Given the description of an element on the screen output the (x, y) to click on. 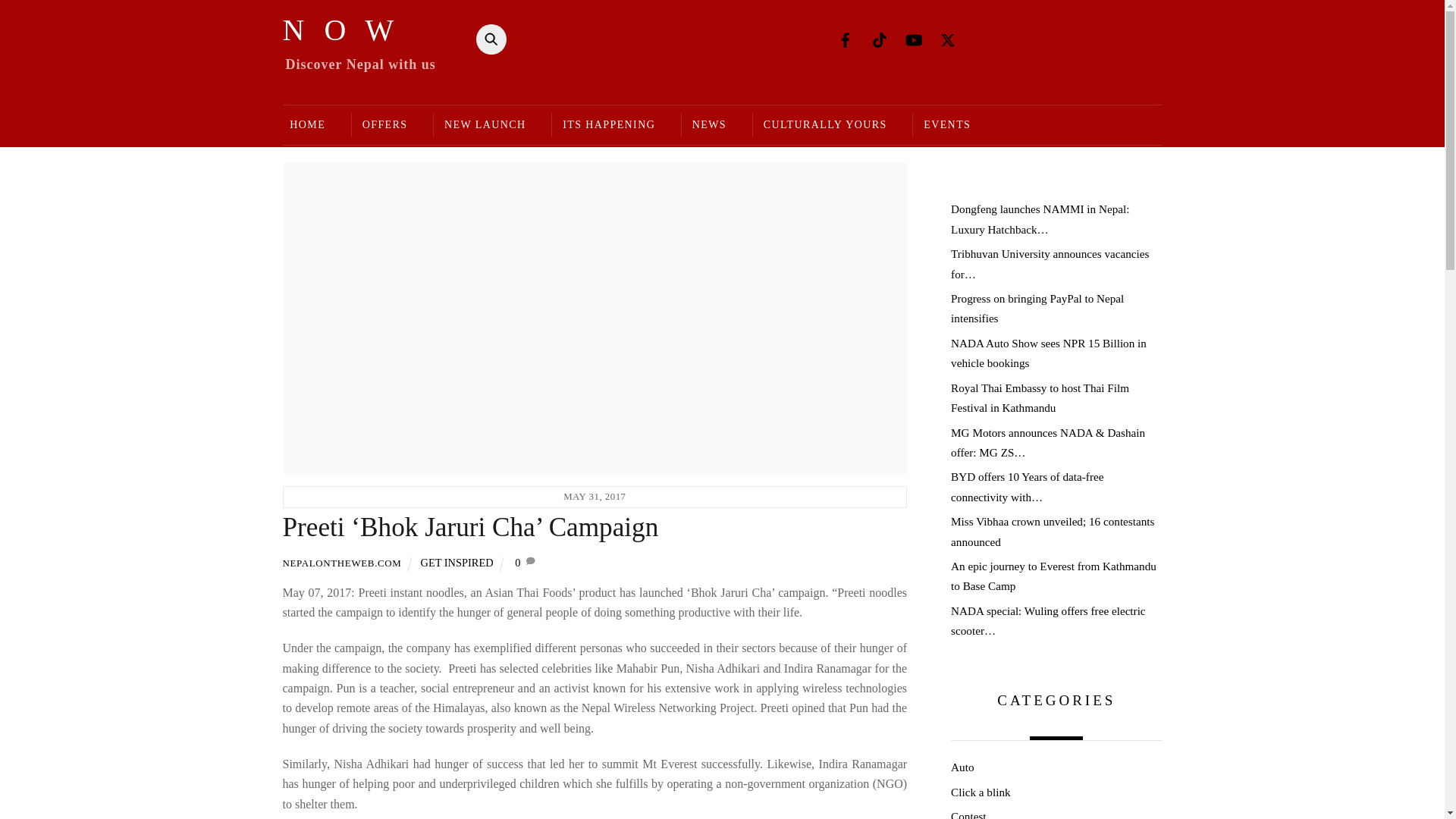
NEPALONTHEWEB.COM (341, 562)
ITS HAPPENING (608, 125)
GET INSPIRED (456, 562)
N O W (340, 29)
N O W (340, 29)
HOME (312, 125)
Search (486, 39)
OFFERS (384, 125)
NEW LAUNCH (483, 125)
NEWS (708, 125)
